Given the description of an element on the screen output the (x, y) to click on. 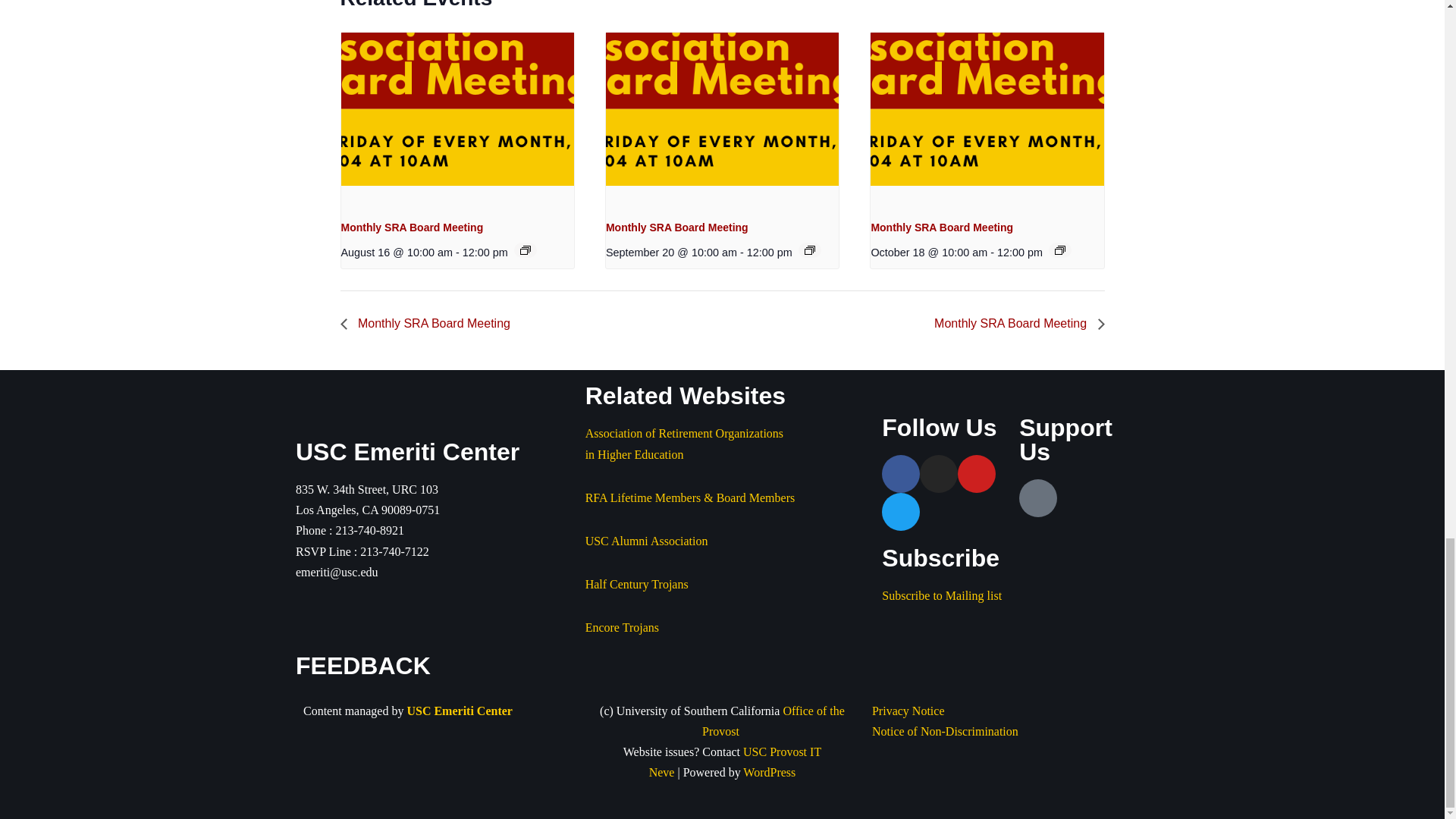
Event Series (1059, 249)
Event Series (810, 249)
Event Series (525, 249)
